Given the description of an element on the screen output the (x, y) to click on. 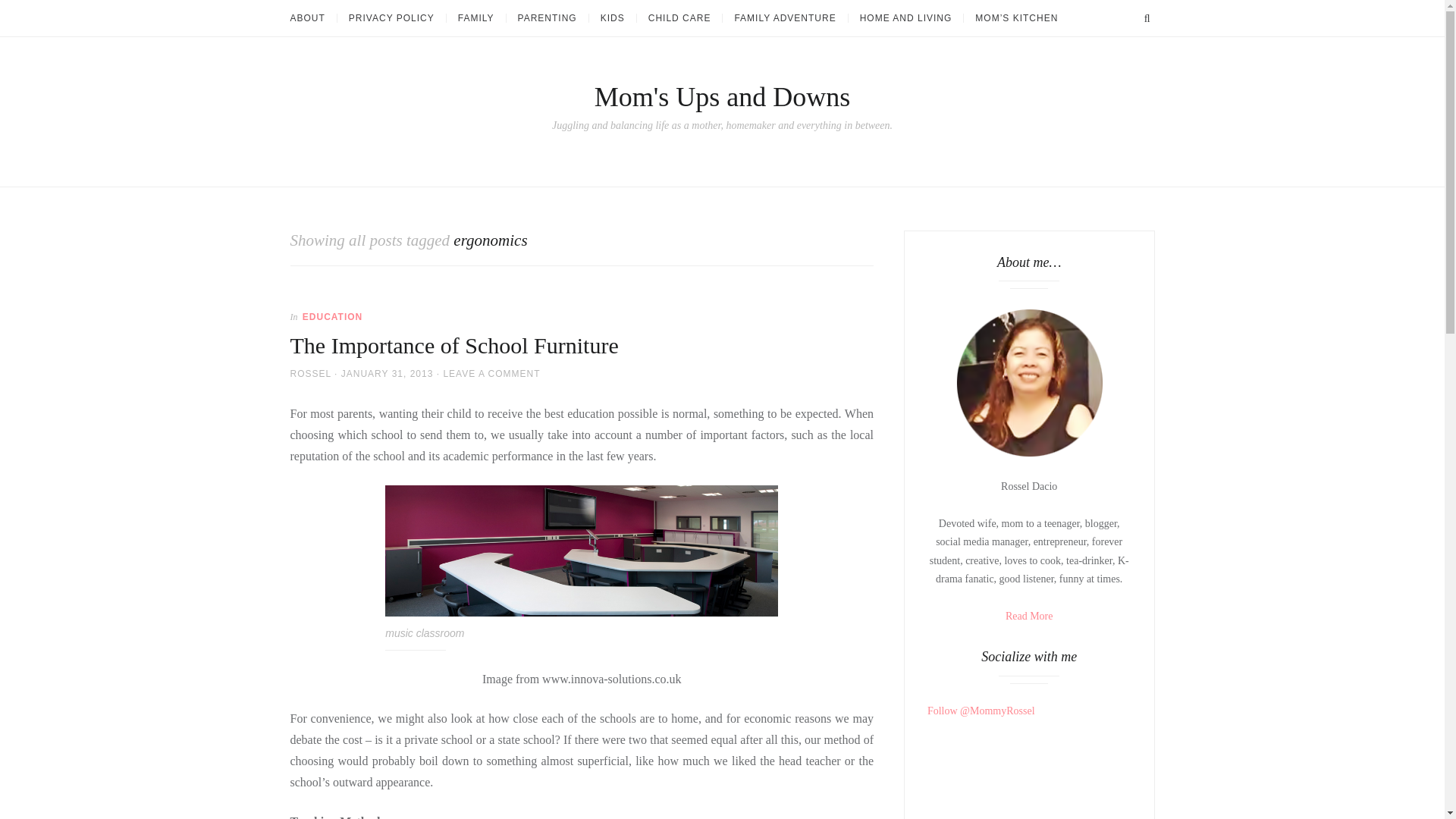
ABOUT (312, 17)
SEARCH (1147, 17)
PRIVACY POLICY (390, 17)
JANUARY 31, 2013 (386, 373)
Read More (1029, 615)
FAMILY (475, 17)
FAMILY ADVENTURE (784, 17)
CHILD CARE (679, 17)
LEAVE A COMMENT (491, 373)
PARENTING (546, 17)
EDUCATION (332, 317)
The Importance of School Furniture (453, 344)
Mom's Ups and Downs (722, 96)
ROSSEL (309, 373)
KIDS (612, 17)
